Given the description of an element on the screen output the (x, y) to click on. 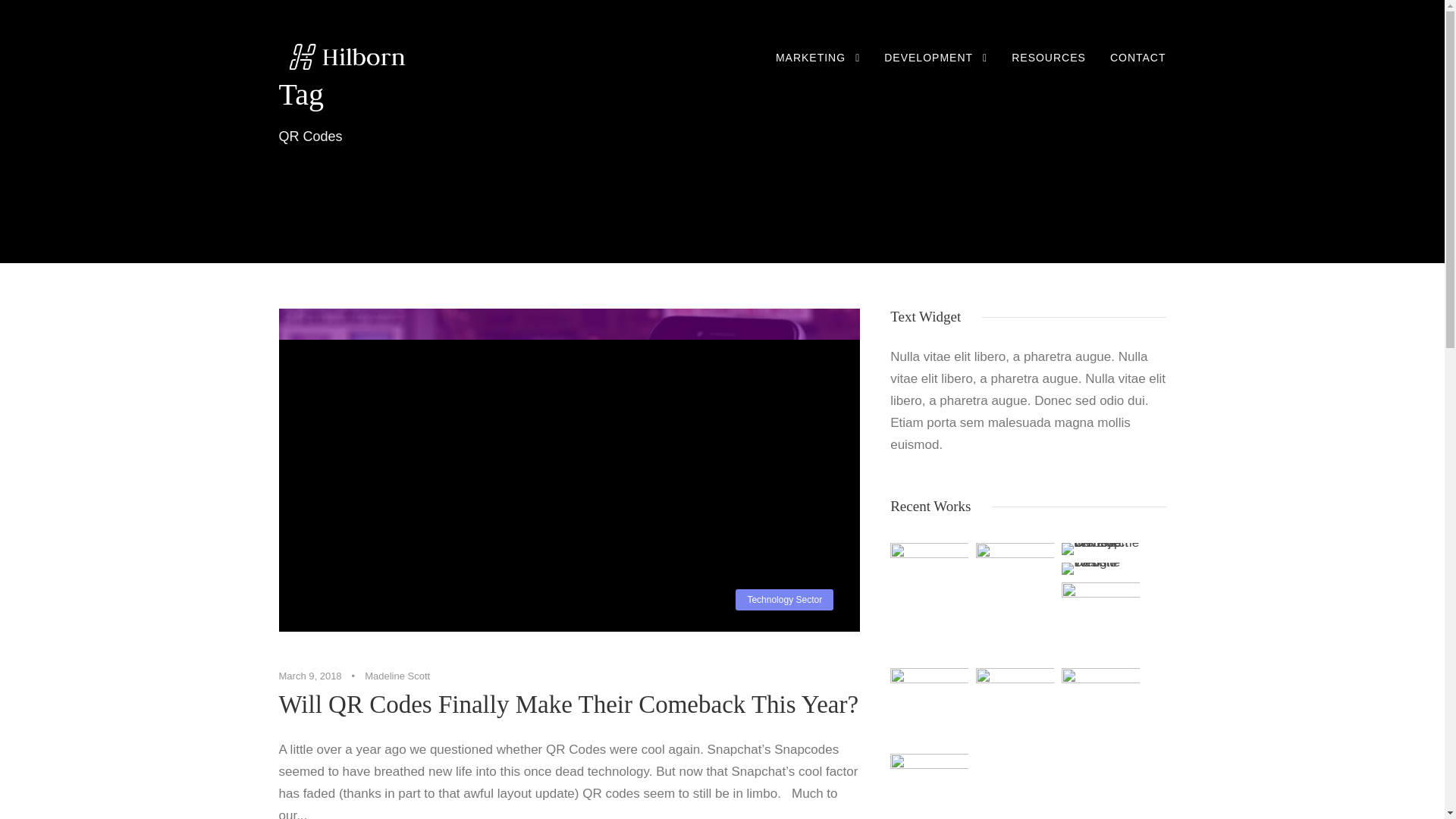
March 9, 2018 (310, 675)
app-development05 (1100, 707)
MARKETING (818, 68)
toronto-app-development (928, 786)
app-development04 (1014, 707)
CONTACT (1137, 68)
Technology Sector (784, 599)
app-development03 (928, 707)
Madeline Scott (397, 675)
app-development07-1 (1100, 621)
